Given the description of an element on the screen output the (x, y) to click on. 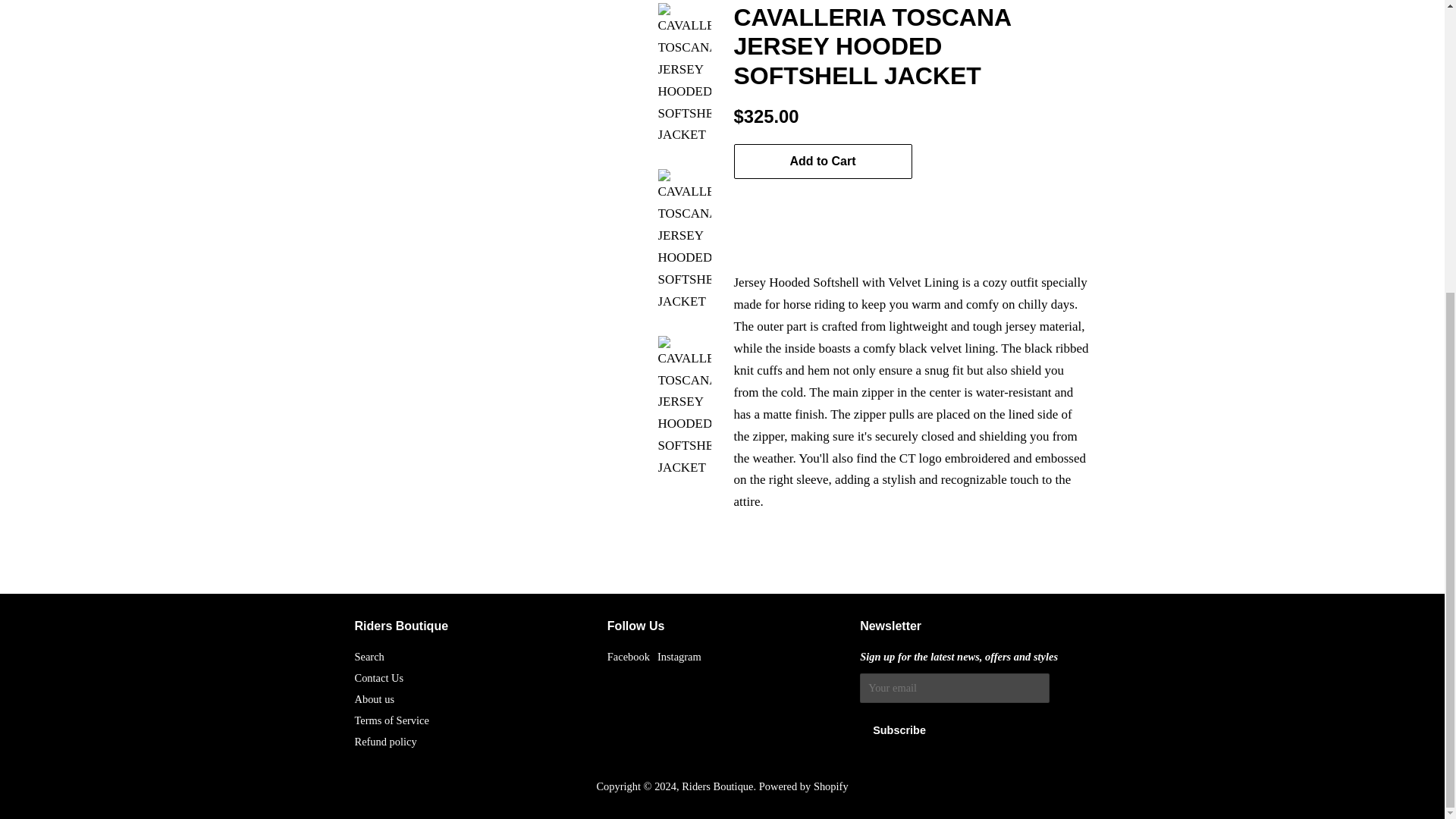
Riders Boutique on Instagram (679, 656)
Subscribe (899, 729)
Riders Boutique on Facebook (628, 656)
